Given the description of an element on the screen output the (x, y) to click on. 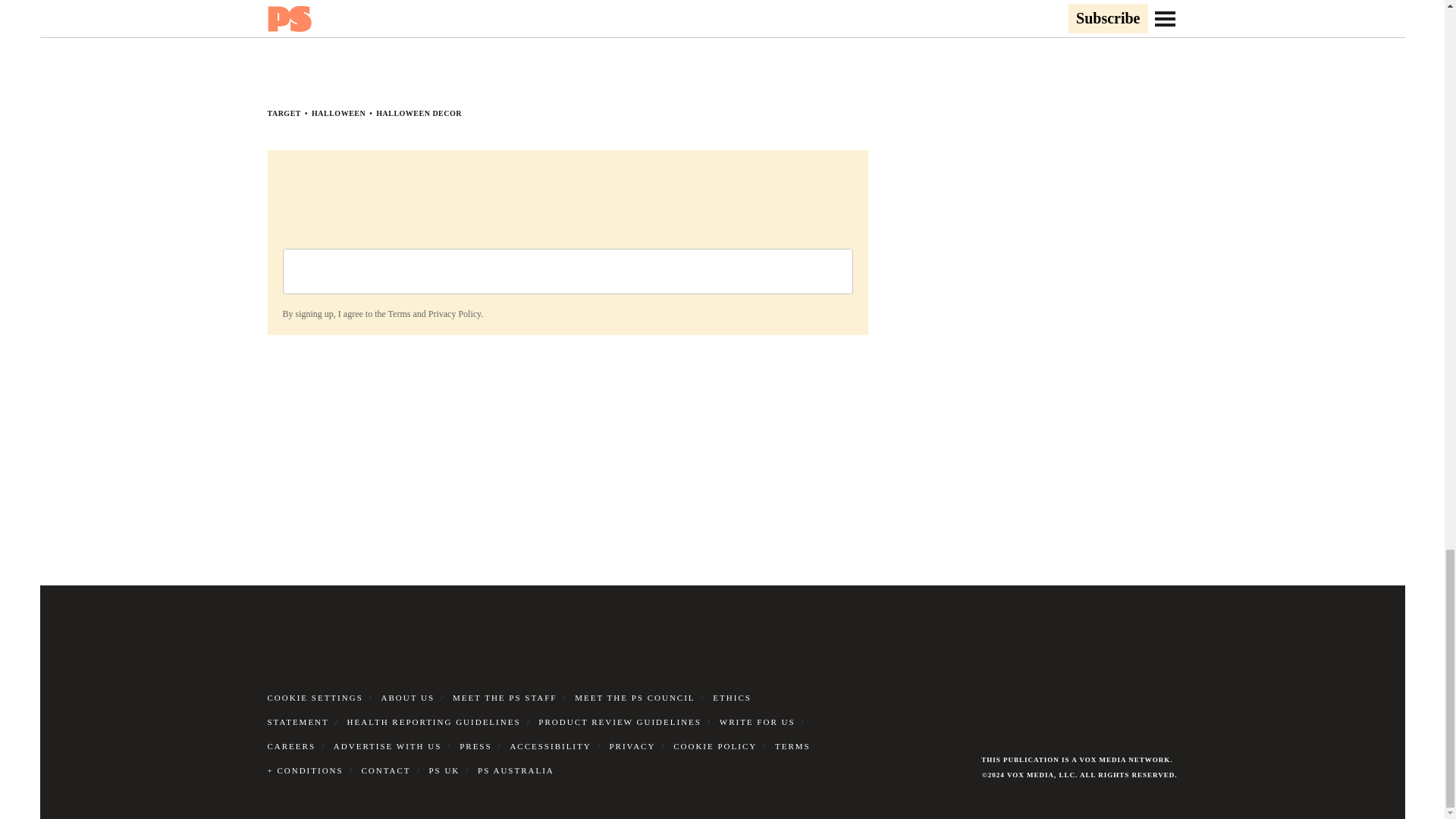
HALLOWEEN DECOR (418, 112)
HEALTH REPORTING GUIDELINES (434, 721)
ETHICS STATEMENT (508, 709)
Privacy Policy. (455, 313)
MEET THE PS COUNCIL (634, 697)
ADVERTISE WITH US (387, 746)
TARGET (283, 112)
CONTACT (385, 770)
WRITE FOR US (756, 721)
ABOUT US (408, 697)
